Given the description of an element on the screen output the (x, y) to click on. 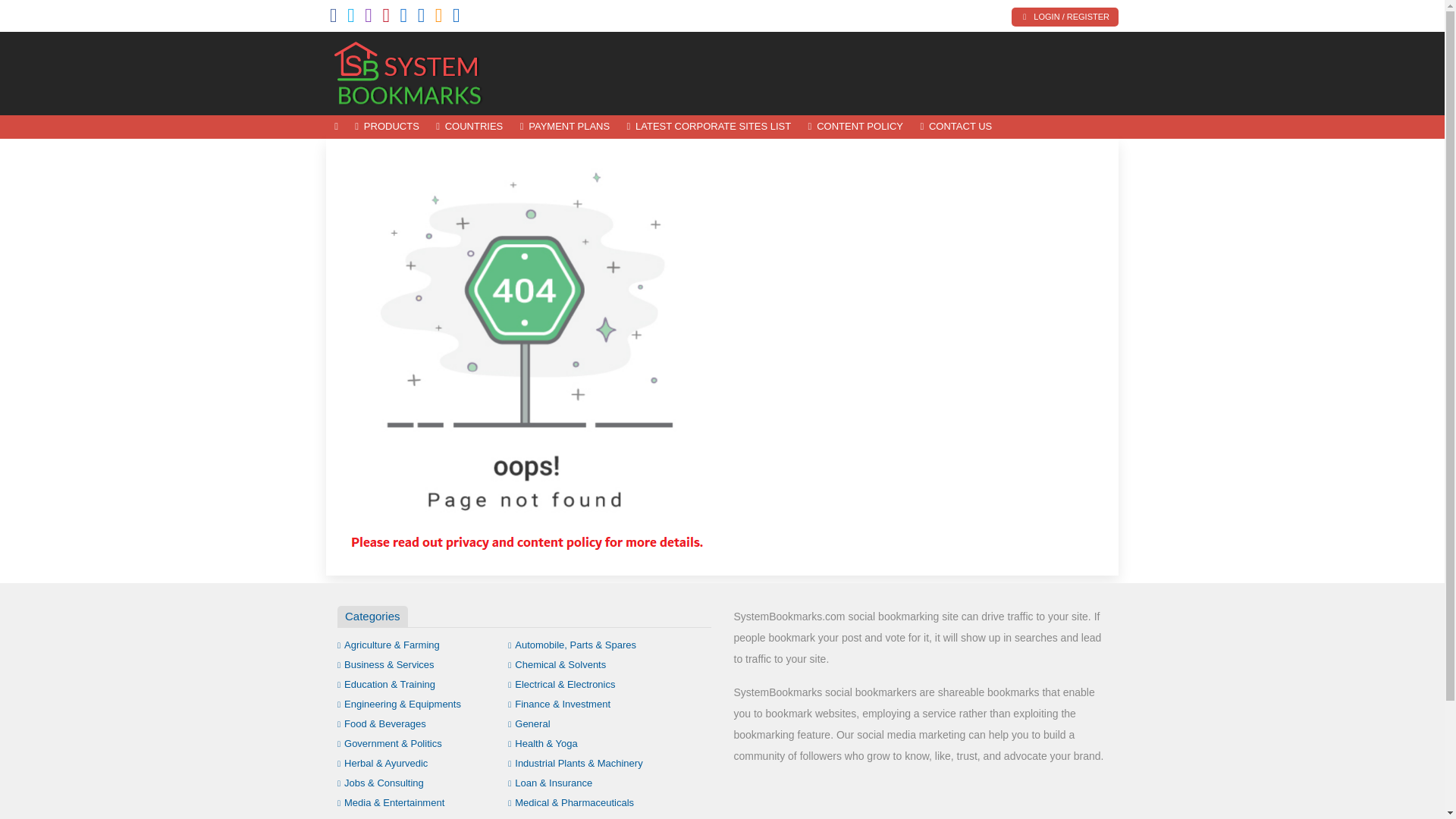
General (529, 723)
PRODUCTS (387, 126)
PAYMENT PLANS (564, 126)
CONTACT US (955, 126)
COUNTRIES (469, 126)
CONTENT POLICY (855, 126)
LATEST CORPORATE SITES LIST (708, 126)
